Given the description of an element on the screen output the (x, y) to click on. 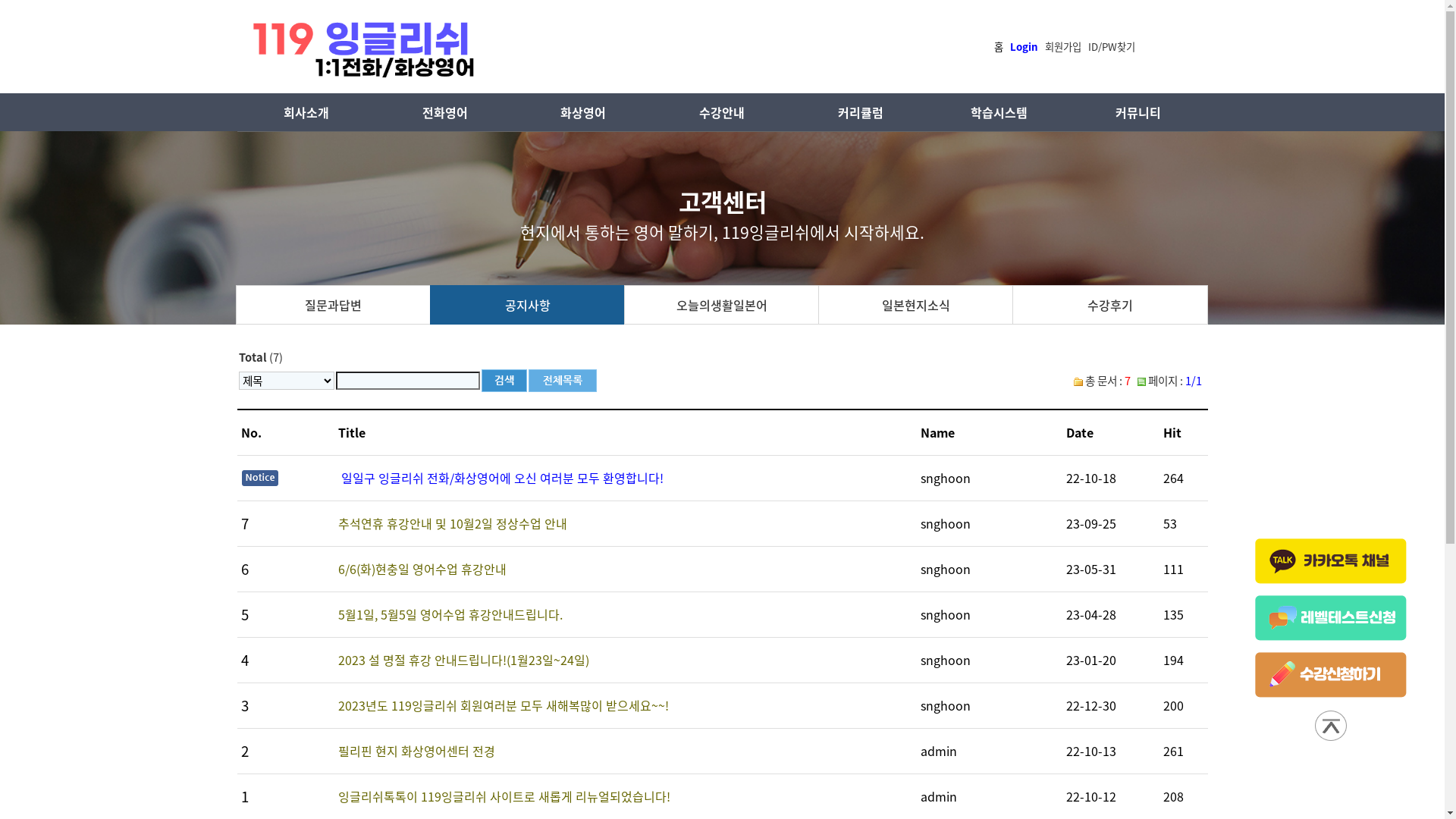
Total (7) Element type: text (260, 356)
Login Element type: text (1024, 45)
